Given the description of an element on the screen output the (x, y) to click on. 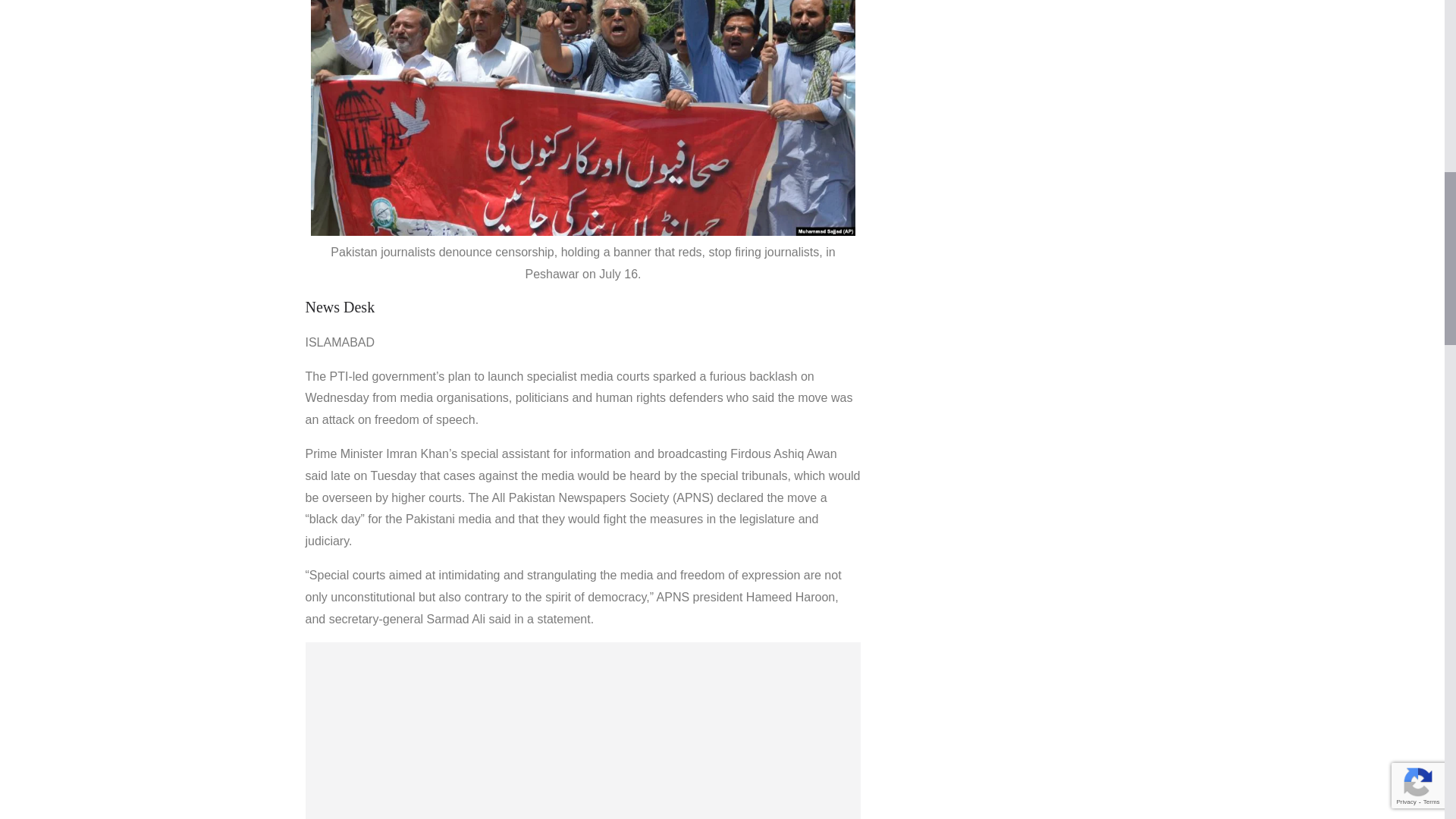
Advertisement (582, 730)
